Given the description of an element on the screen output the (x, y) to click on. 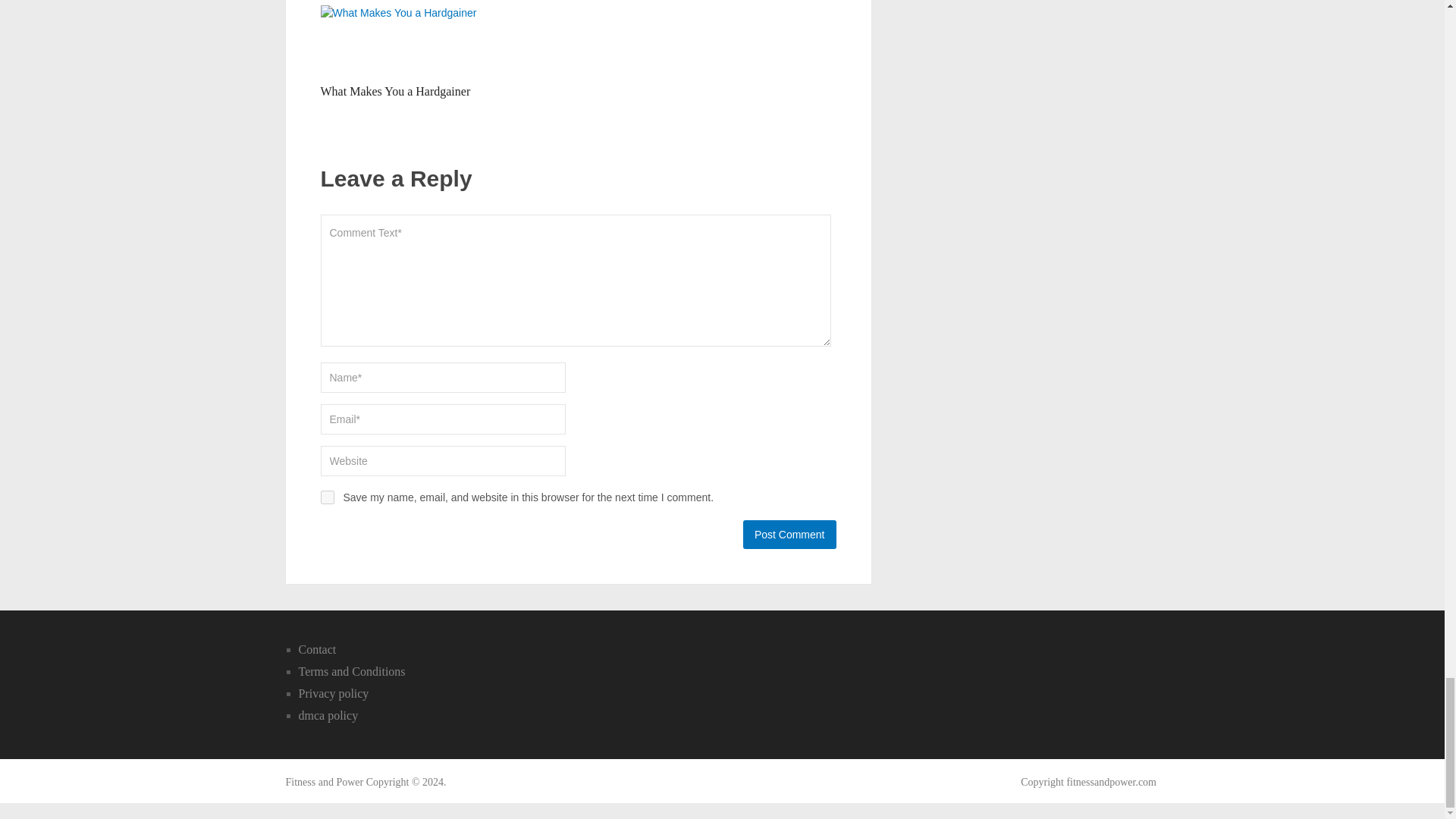
yes (326, 497)
Post Comment (788, 534)
What Makes You a Hardgainer (400, 40)
